Given the description of an element on the screen output the (x, y) to click on. 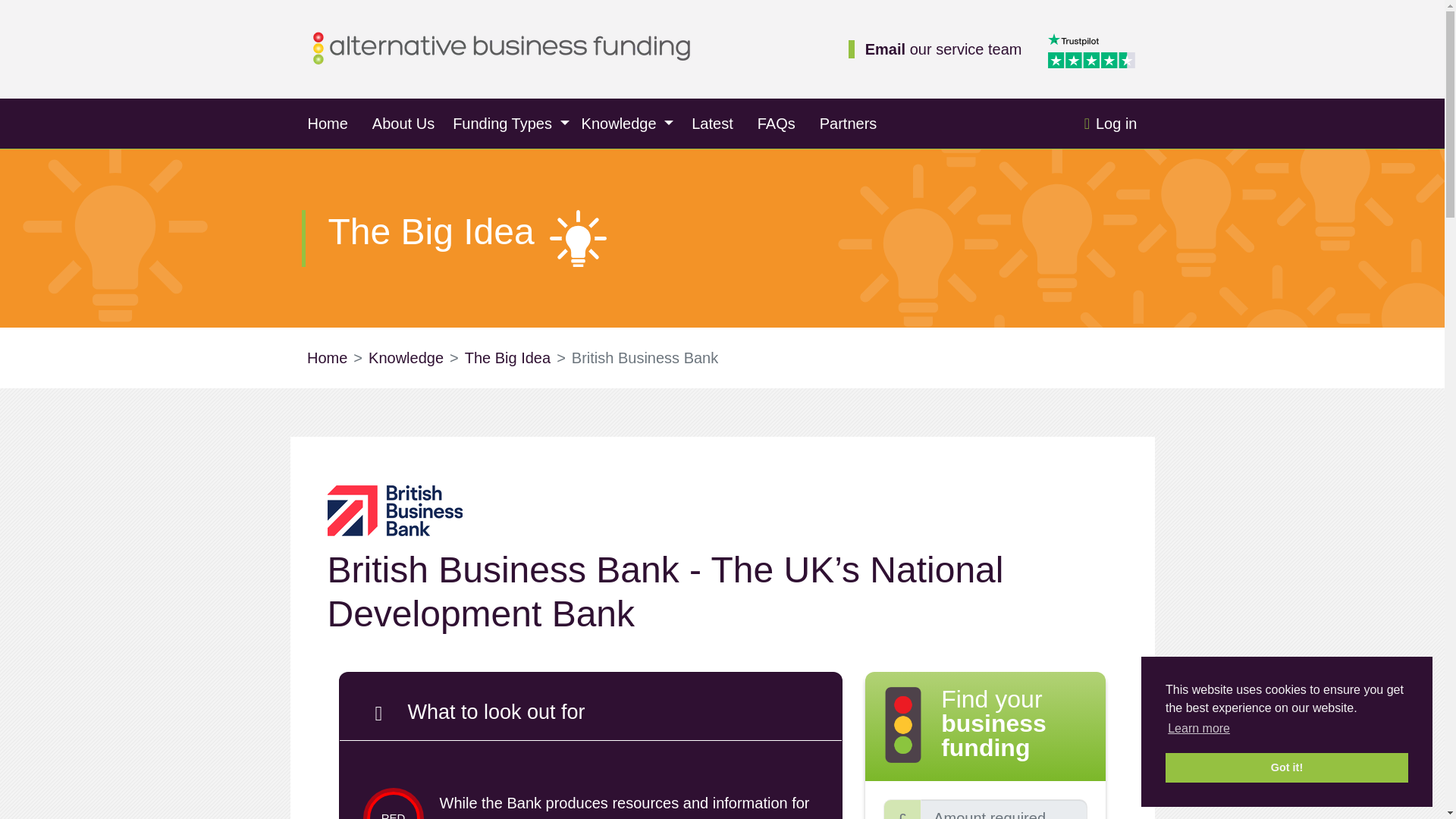
Learn more (1198, 728)
Home (327, 123)
Email our service team (943, 48)
Customer reviews powered by Trustpilot (1093, 48)
Click to go to the home page (501, 46)
Funding Types (510, 123)
About Us (403, 123)
Got it! (1286, 767)
